Given the description of an element on the screen output the (x, y) to click on. 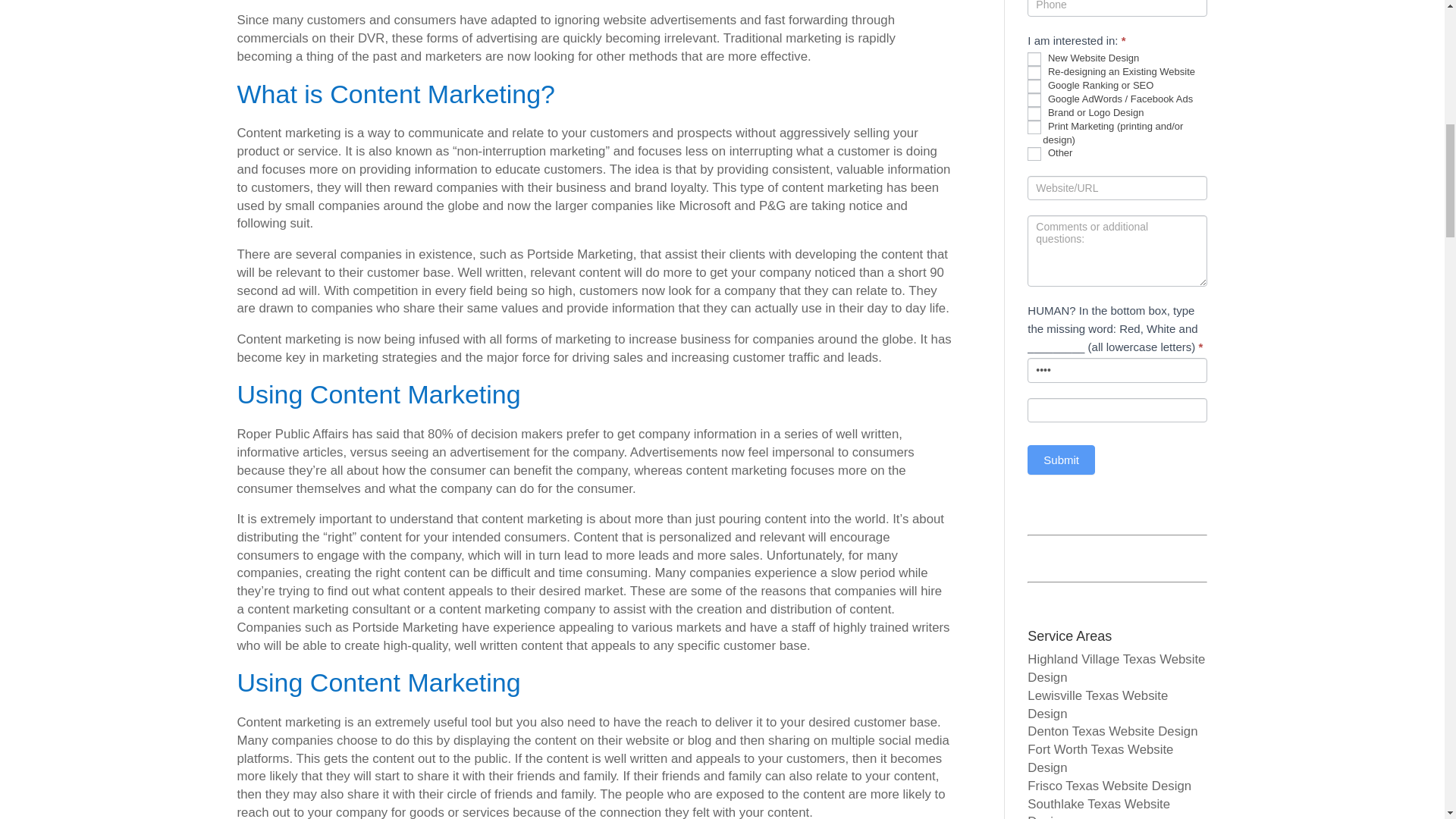
Re-designing an Existing Website (1034, 72)
Google Ranking or SEO (1034, 86)
blue (1117, 369)
New Website Design (1034, 59)
Brand or Logo Design (1034, 113)
Other (1034, 153)
